Given the description of an element on the screen output the (x, y) to click on. 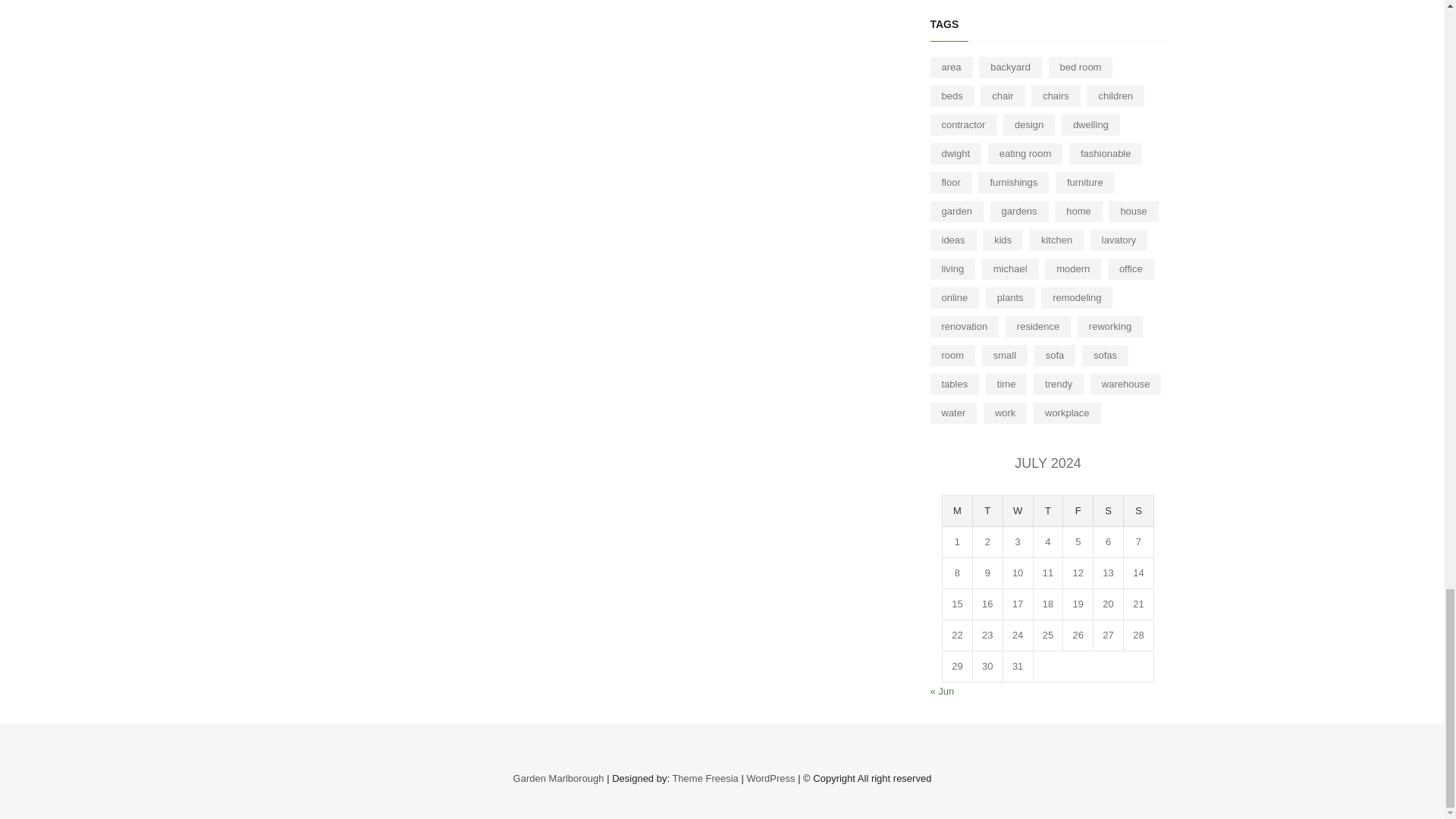
Garden Marlborough (558, 778)
Thursday (1048, 511)
Friday (1077, 511)
Saturday (1108, 511)
Theme Freesia (704, 778)
Sunday (1139, 511)
Tuesday (987, 511)
Monday (957, 511)
WordPress (769, 778)
Wednesday (1018, 511)
